Given the description of an element on the screen output the (x, y) to click on. 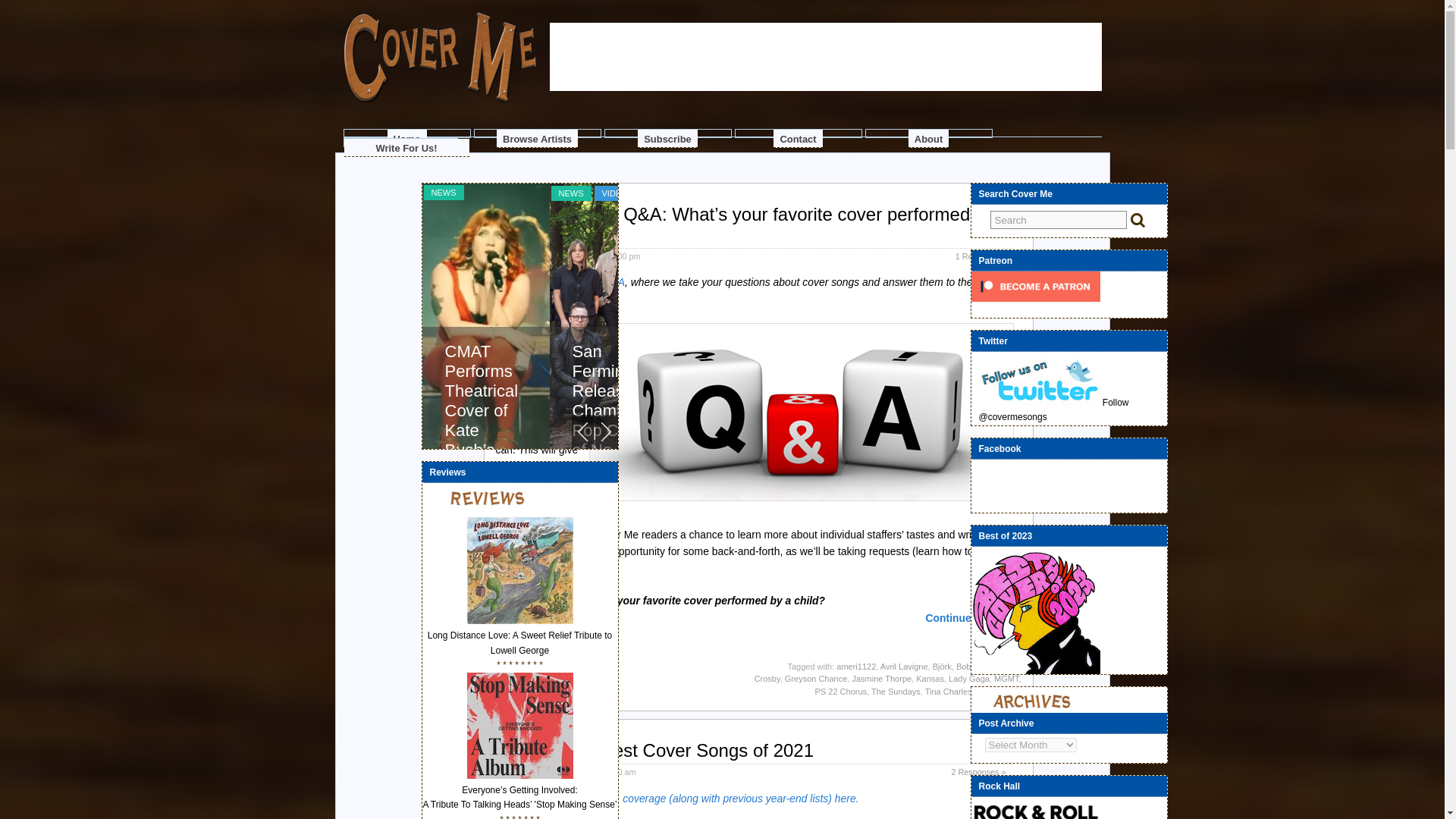
Bob Dylan (975, 665)
MGMT (1005, 678)
Greyson Chance (815, 678)
The 50 Best Cover Songs of 2021 (676, 750)
Subscribe (667, 138)
Staff (586, 771)
Claire Crosby (888, 672)
Tinashe (991, 691)
The 50 Best Cover Songs of 2021 (676, 750)
ameri1122 (855, 665)
About (928, 138)
U2 (1015, 691)
Write For Us! (405, 147)
Kansas (929, 678)
QA (800, 411)
